Given the description of an element on the screen output the (x, y) to click on. 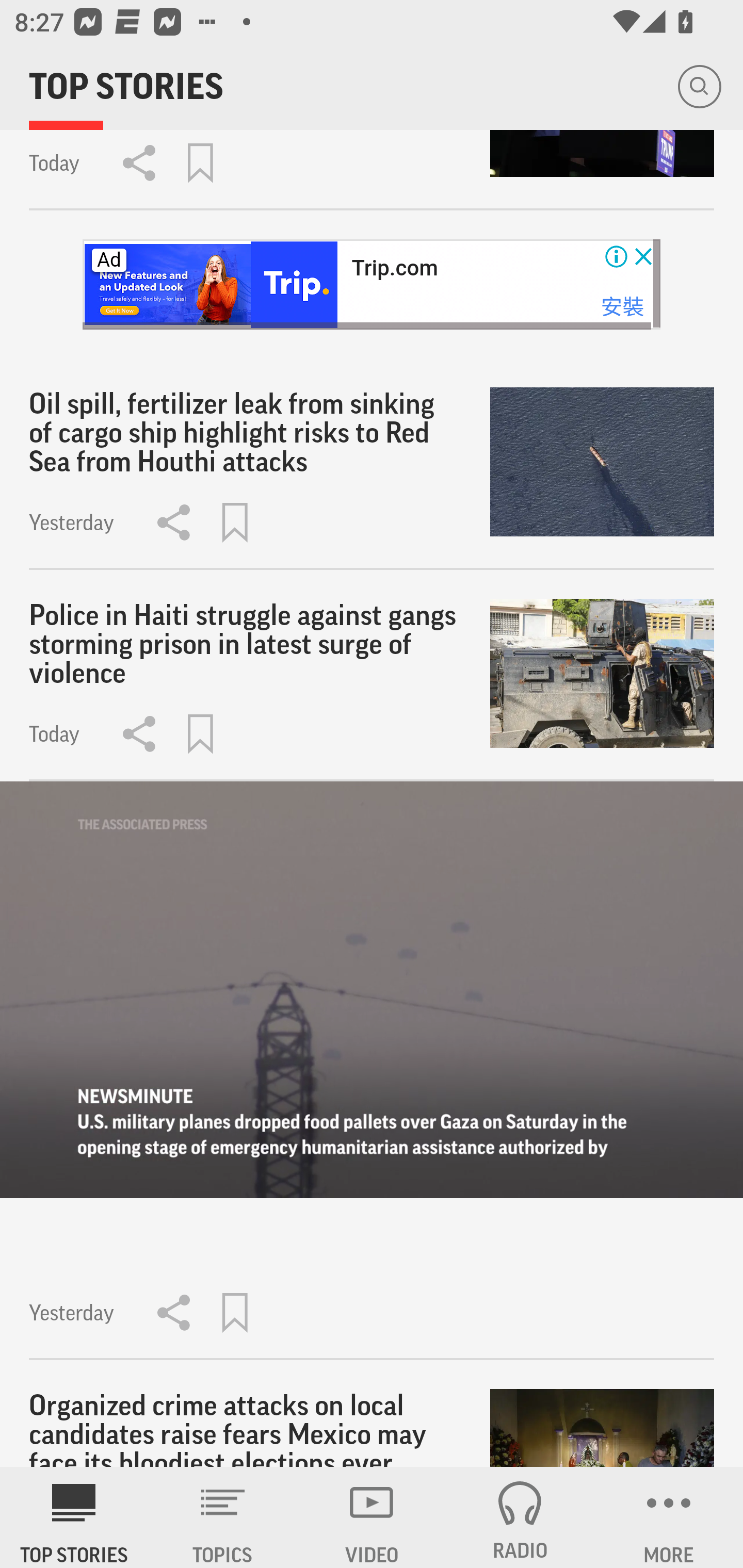
Trip.com (393, 268)
安裝 (621, 306)
toggle controls Yesterday (371, 1069)
toggle controls (371, 988)
AP News TOP STORIES (74, 1517)
TOPICS (222, 1517)
VIDEO (371, 1517)
RADIO (519, 1517)
MORE (668, 1517)
